Given the description of an element on the screen output the (x, y) to click on. 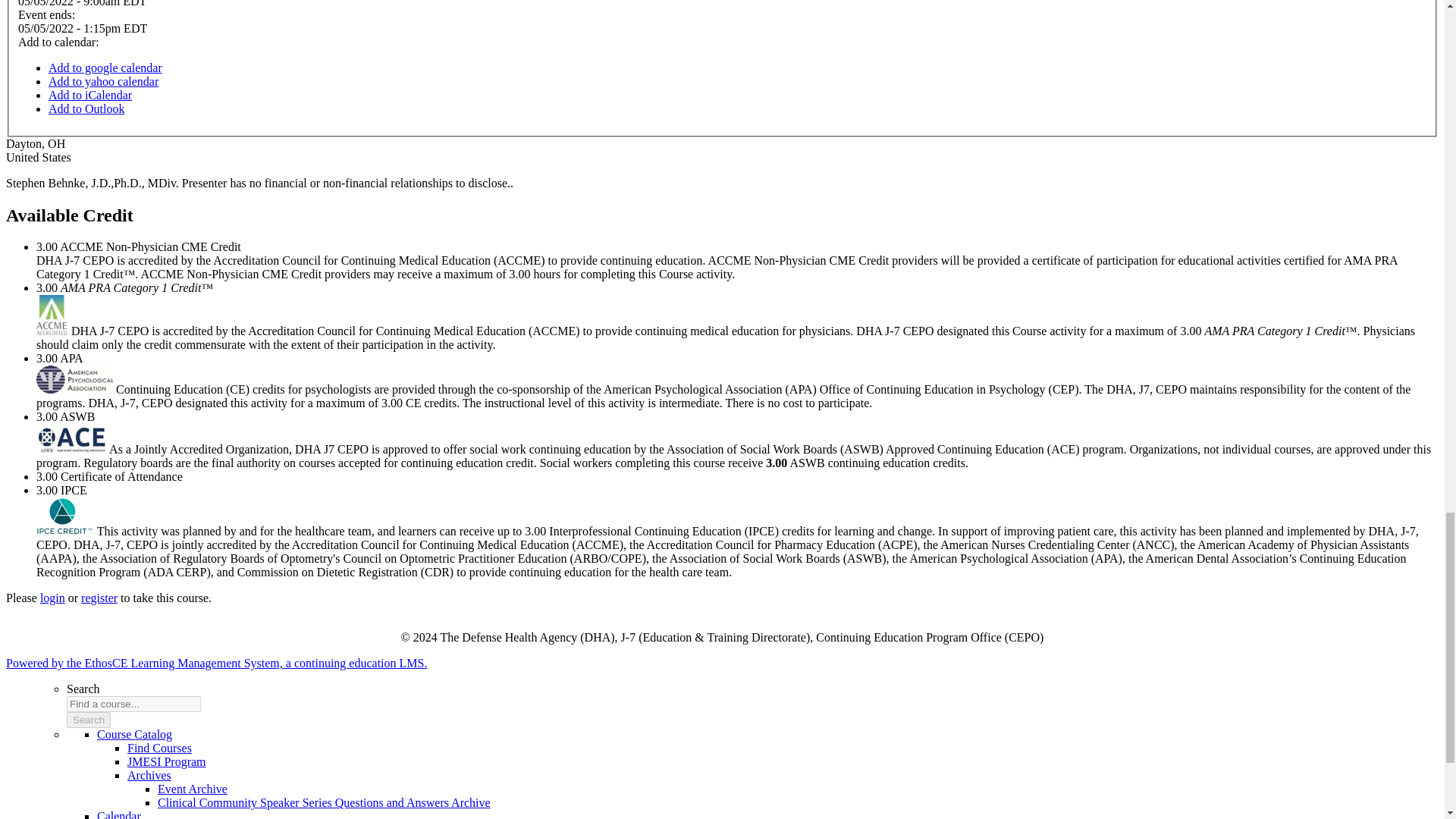
Google calendar (104, 67)
Add to Outlook (85, 108)
Add to google calendar (104, 67)
Search (88, 719)
Add to iCalendar (90, 94)
Add to yahoo calendar (103, 81)
